Given the description of an element on the screen output the (x, y) to click on. 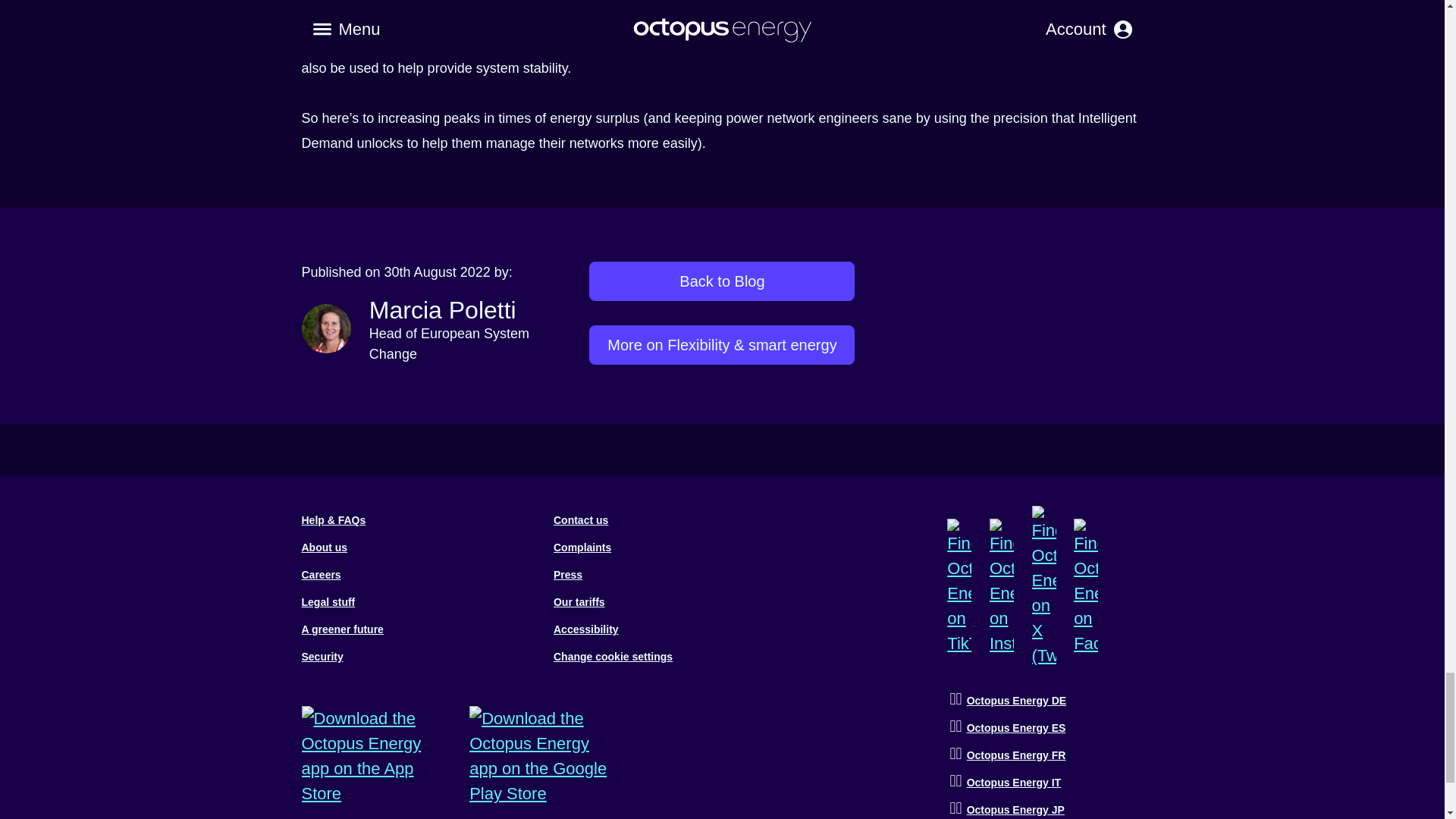
Legal stuff (328, 602)
Careers (320, 574)
Accessibility (585, 629)
About us (324, 547)
Contact us (580, 520)
A greener future (342, 629)
Our tariffs (579, 602)
Press (567, 574)
Back to Blog (721, 280)
Security (322, 656)
Complaints (582, 547)
Change cookie settings (612, 656)
